Given the description of an element on the screen output the (x, y) to click on. 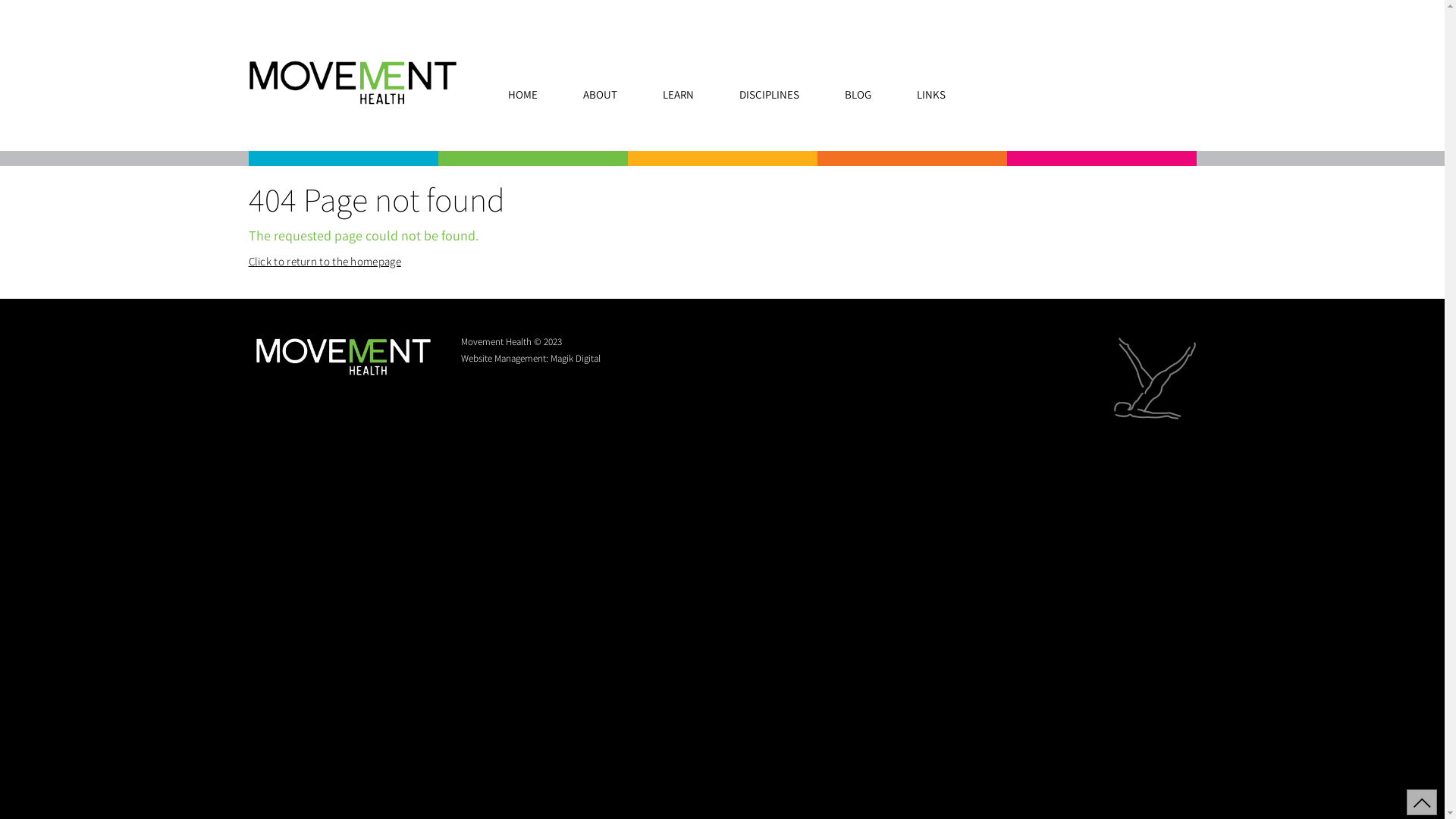
Click to return to the homepage Element type: text (324, 261)
HOME Element type: text (522, 94)
LEARN Element type: text (678, 94)
ABOUT Element type: text (600, 94)
Website Management: Magik Digital Element type: text (530, 358)
BLOG Element type: text (858, 94)
DISCIPLINES Element type: text (769, 94)
Movement Health Element type: hover (343, 372)
LINKS Element type: text (931, 94)
Movement Health Element type: hover (352, 100)
Back to top Element type: hover (1421, 802)
